Given the description of an element on the screen output the (x, y) to click on. 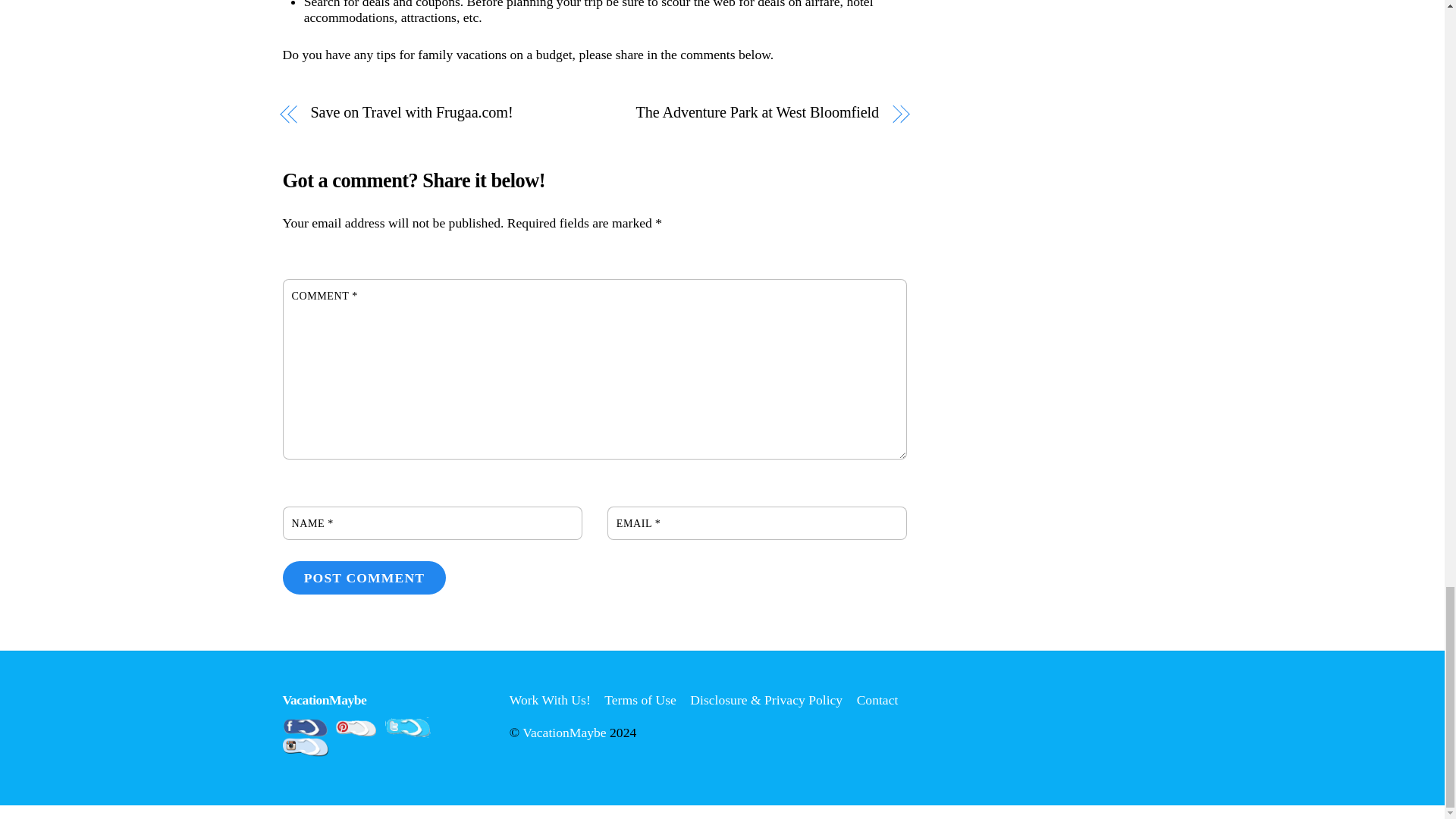
The Adventure Park at West Bloomfield (745, 112)
Post Comment (363, 577)
VacationMaybe (324, 699)
Post Comment (363, 577)
Save on Travel with Frugaa.com! (442, 112)
